Given the description of an element on the screen output the (x, y) to click on. 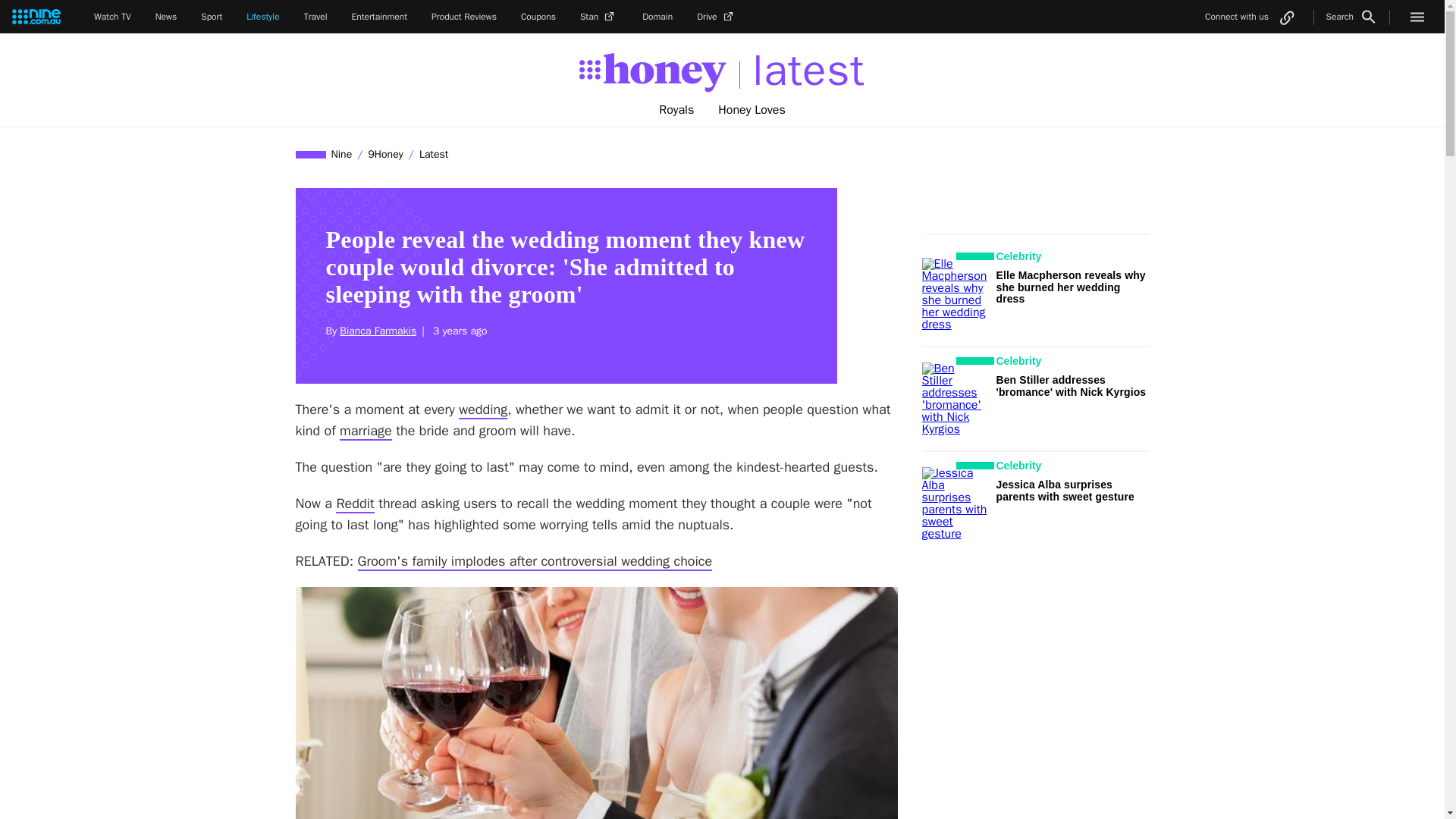
Honey Loves (751, 109)
Domain (657, 16)
Watch TV (112, 16)
Royals (676, 109)
Groom's family implodes after controversial wedding choice (535, 561)
Drive (716, 16)
Reddit (355, 504)
wedding (482, 410)
Reddit (355, 504)
9Honey (384, 154)
